Given the description of an element on the screen output the (x, y) to click on. 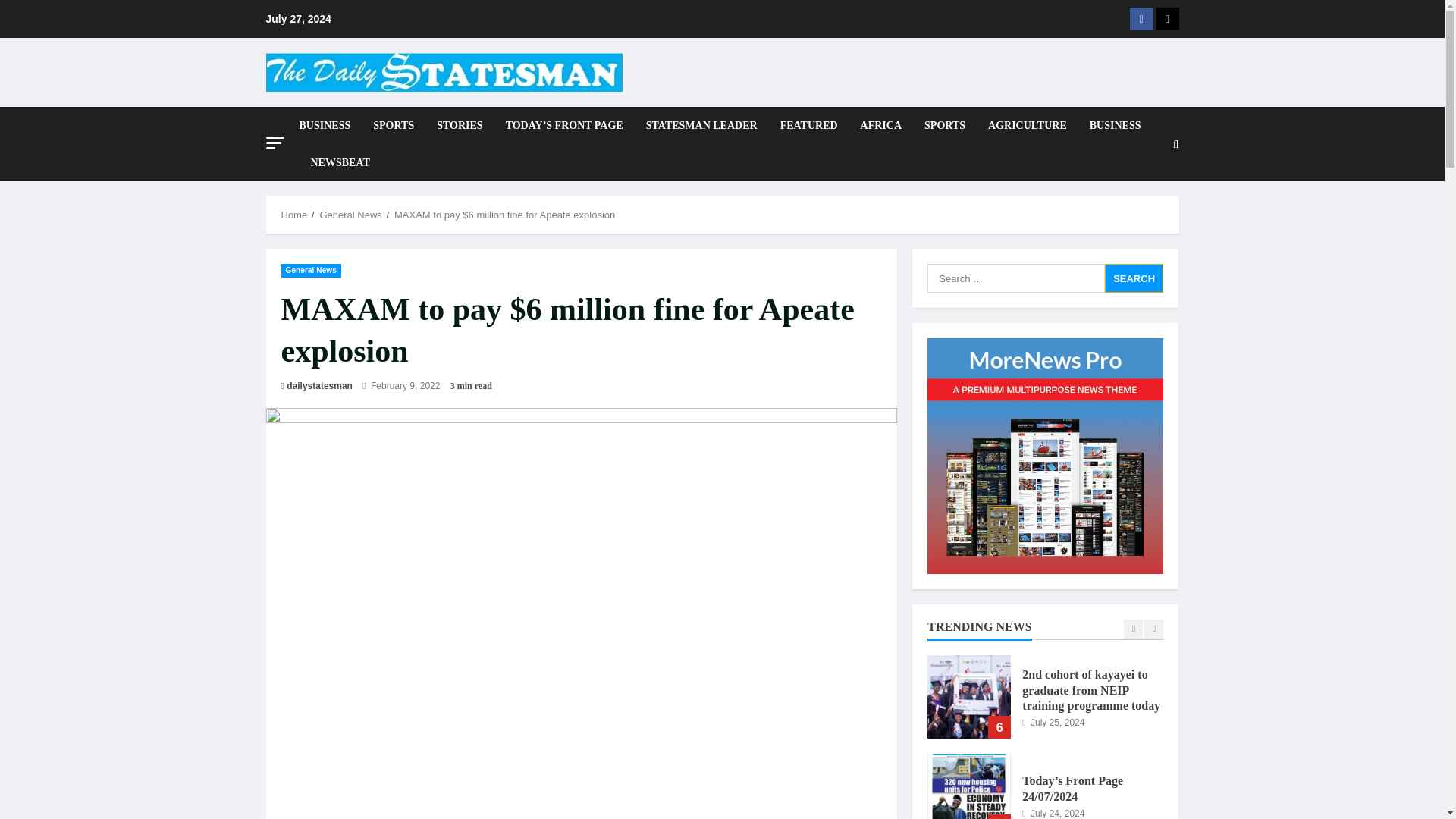
Search (1134, 277)
SPORTS (944, 125)
STORIES (459, 125)
FEATURED (808, 125)
General News (349, 214)
BUSINESS (329, 125)
STATESMAN LEADER (701, 125)
NEWSBEAT (333, 162)
Search (1139, 221)
Home (294, 214)
AGRICULTURE (1027, 125)
AFRICA (880, 125)
SPORTS (393, 125)
Search (1134, 277)
BUSINESS (1115, 125)
